Given the description of an element on the screen output the (x, y) to click on. 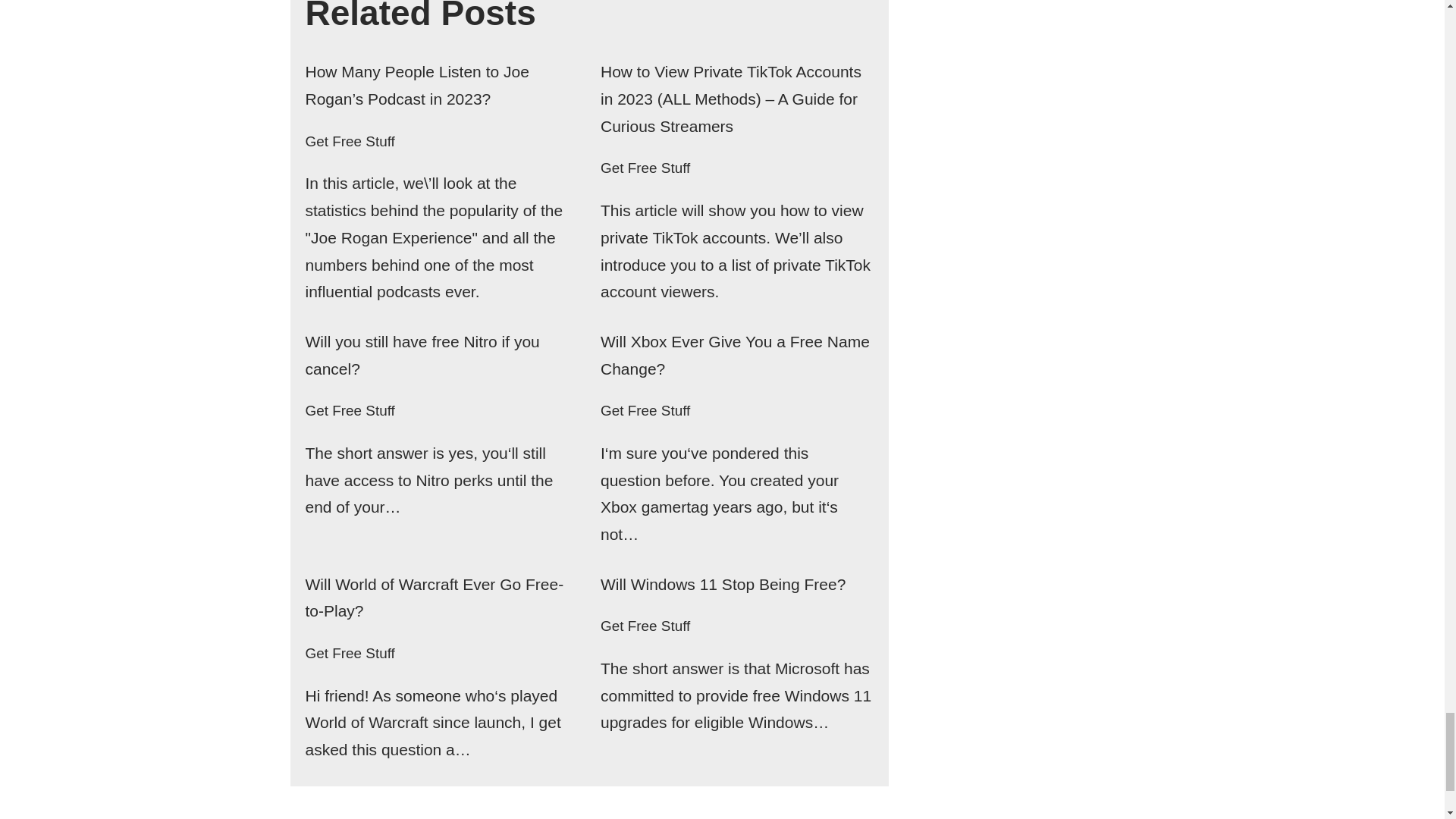
Get Free Stuff (349, 410)
Will you still have free Nitro if you cancel? (421, 354)
Get Free Stuff (349, 141)
Get Free Stuff (644, 167)
